Given the description of an element on the screen output the (x, y) to click on. 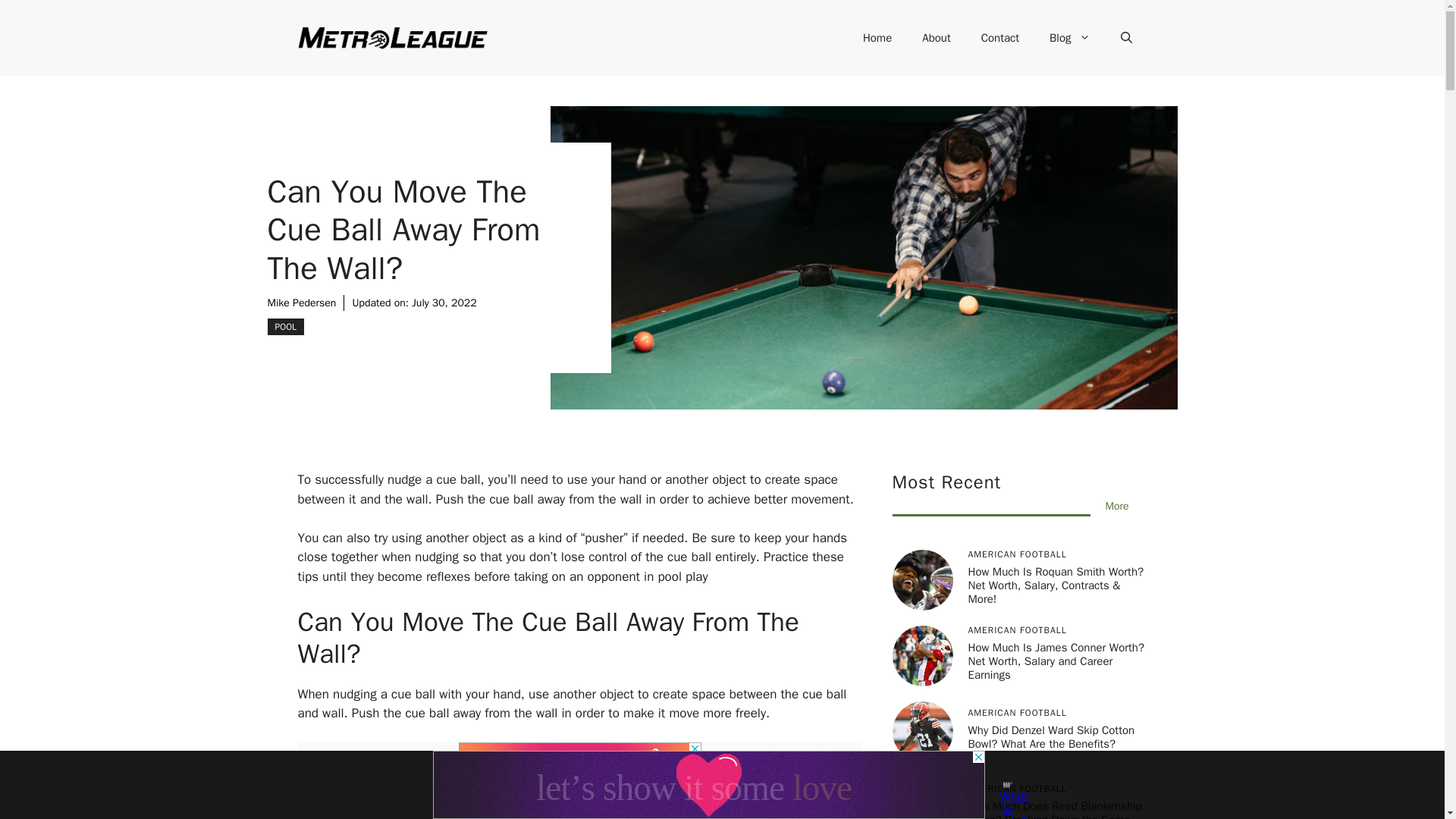
3rd party ad content (708, 785)
Blog (1069, 37)
Contact (999, 37)
3rd party ad content (579, 761)
Home (877, 37)
More (1117, 505)
Mike Pedersen (301, 302)
About (936, 37)
POOL (285, 326)
